Given the description of an element on the screen output the (x, y) to click on. 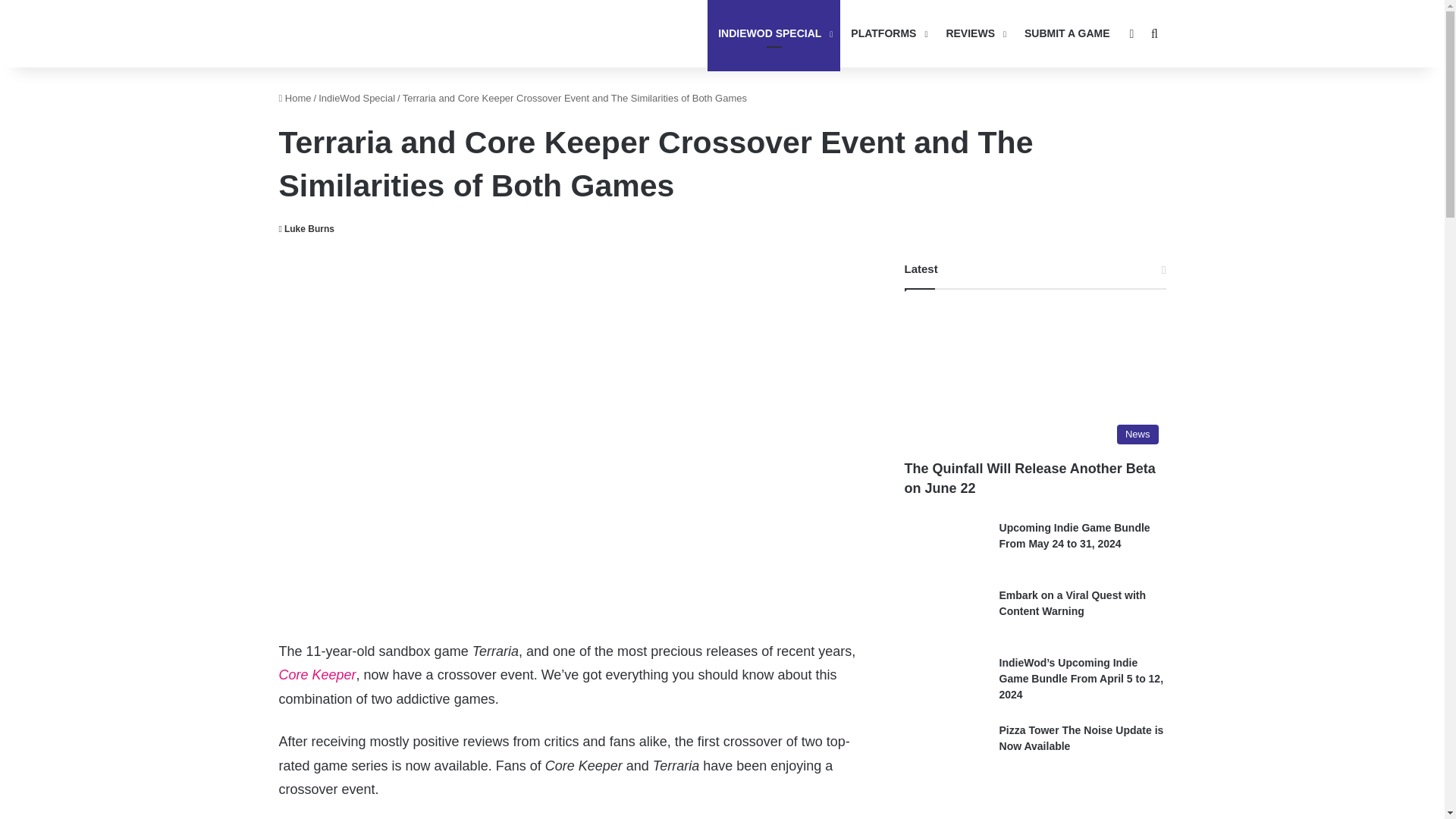
Luke Burns (306, 228)
PLATFORMS (887, 33)
REVIEWS (973, 33)
INDIEWOD SPECIAL (773, 33)
